Given the description of an element on the screen output the (x, y) to click on. 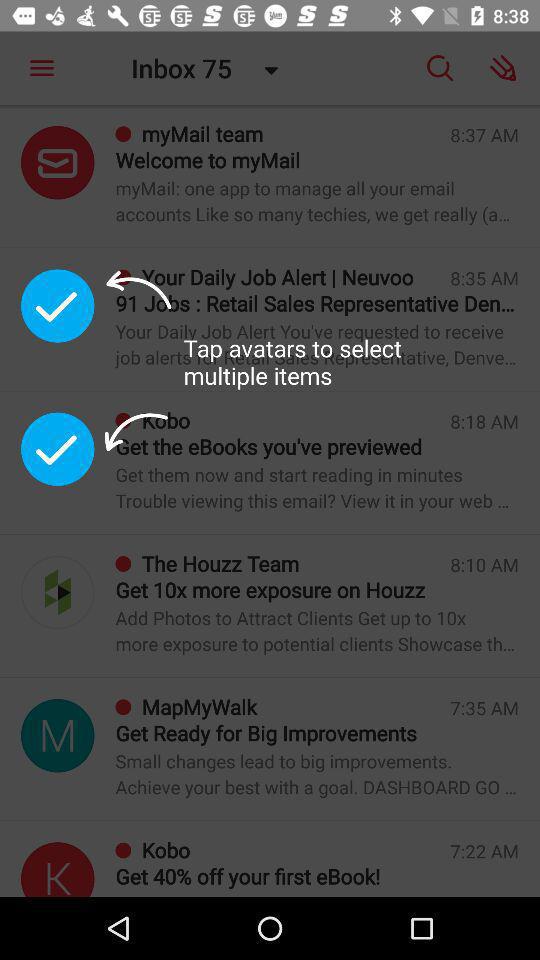
advertisement (57, 869)
